Given the description of an element on the screen output the (x, y) to click on. 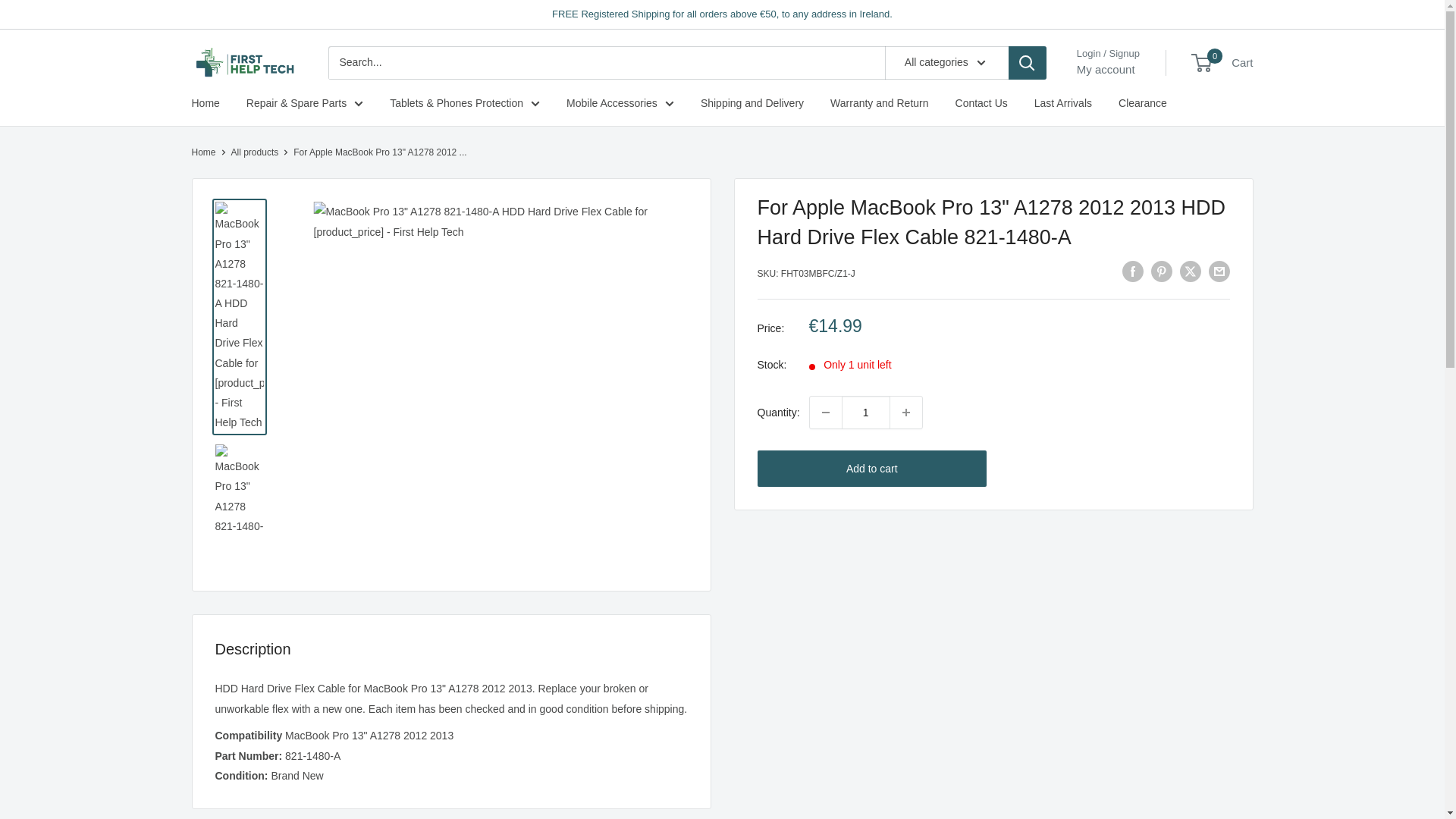
Increase quantity by 1 (905, 412)
Decrease quantity by 1 (825, 412)
1 (865, 412)
